Given the description of an element on the screen output the (x, y) to click on. 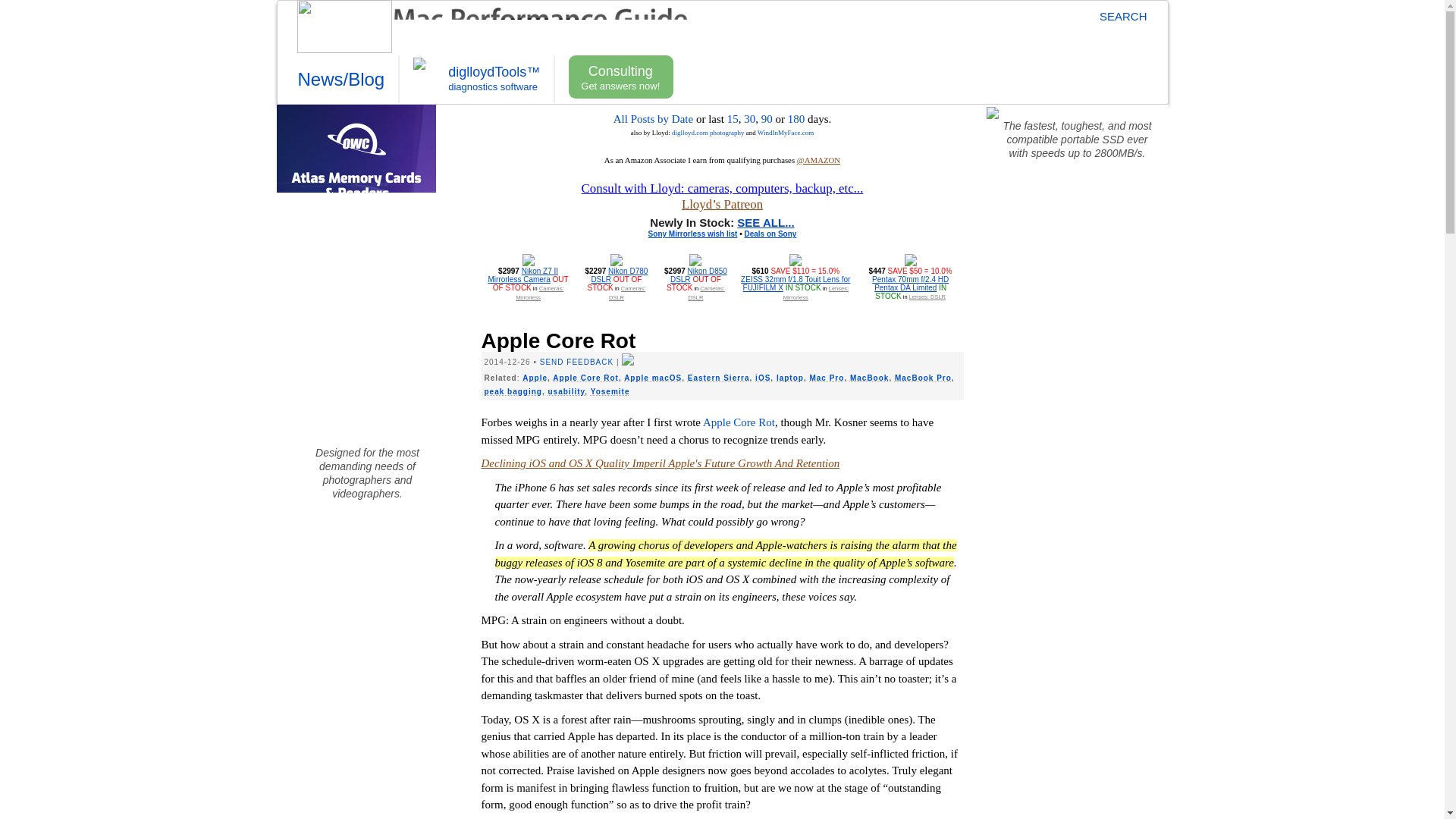
Lenses: DSLR (926, 296)
Sony Mirrorless wish list (692, 234)
All Posts by Date (652, 119)
90 (767, 119)
Apple (534, 377)
SEARCH (1115, 15)
Cameras: Mirrorless (539, 293)
180 (796, 119)
Nikon D780 DSLR (619, 274)
Deals on Sony (770, 234)
